Given the description of an element on the screen output the (x, y) to click on. 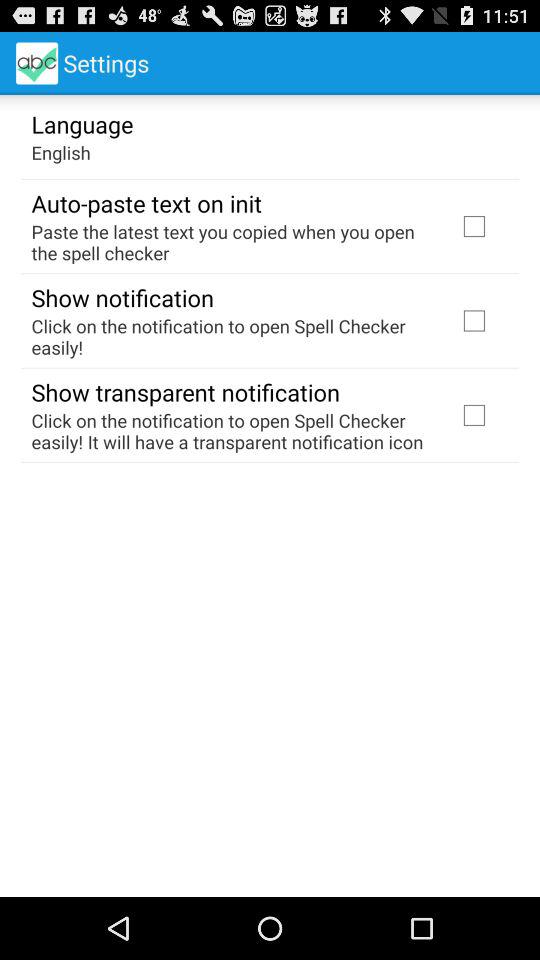
flip to the english app (60, 151)
